Given the description of an element on the screen output the (x, y) to click on. 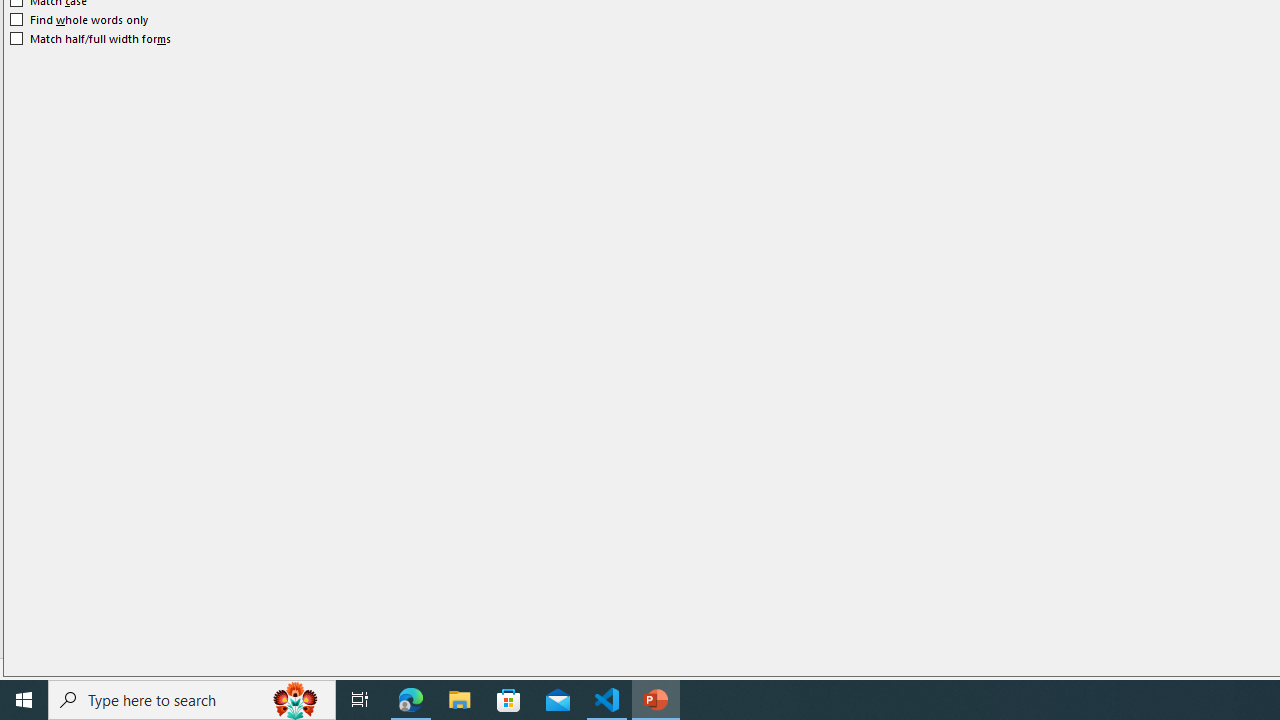
Match half/full width forms (91, 38)
Find whole words only (79, 20)
